Given the description of an element on the screen output the (x, y) to click on. 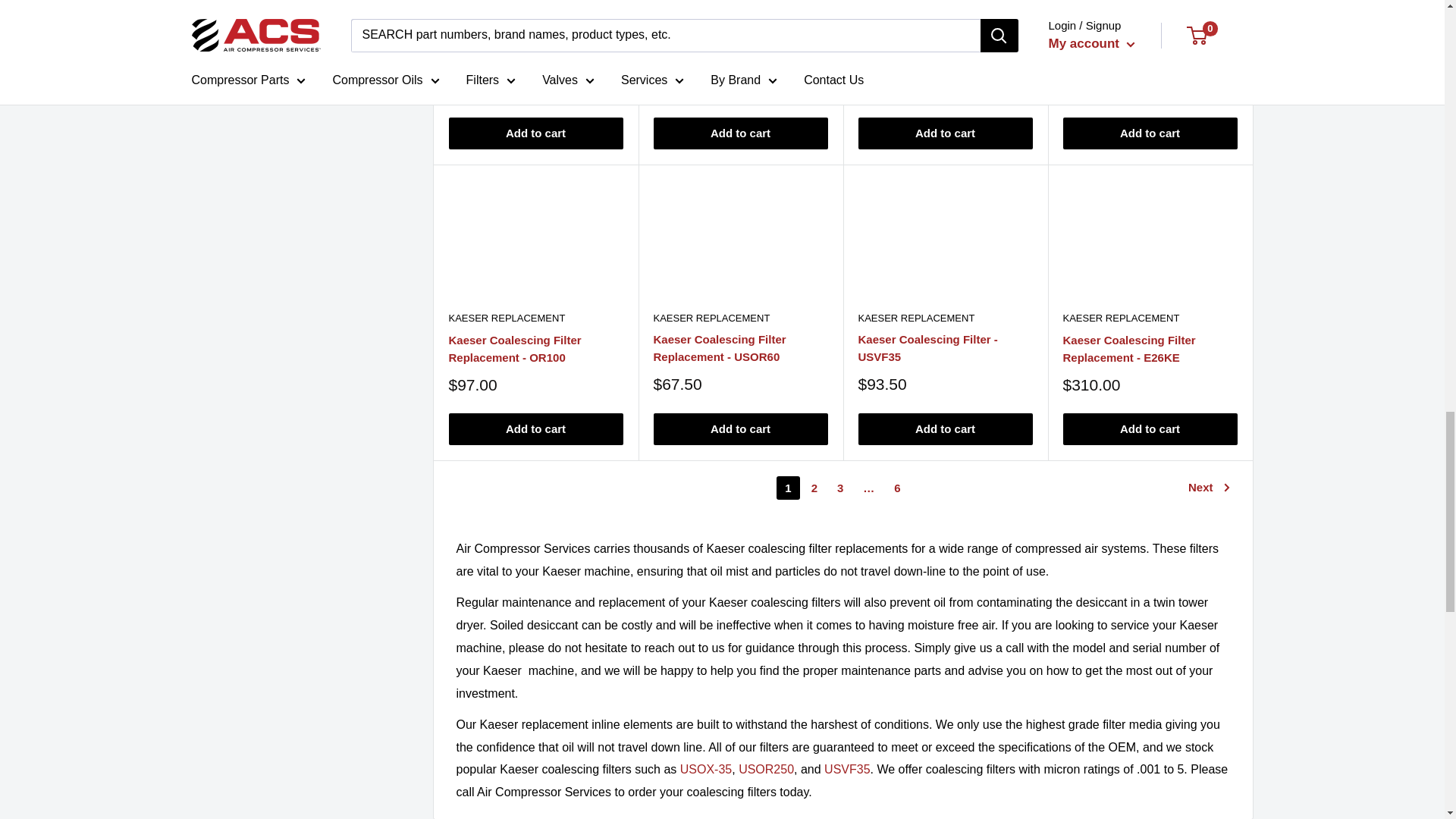
Navigate to page 3 (839, 487)
Navigate to page 2 (814, 487)
Kaeser Coalescing Filter - USOX-35 (705, 768)
Next (1209, 487)
Navigate to page 6 (896, 487)
Kaeser Coalescing Filter - USVF35 (846, 768)
Kaeser Coalescing Filter Replacement - USOR250 (765, 768)
